Given the description of an element on the screen output the (x, y) to click on. 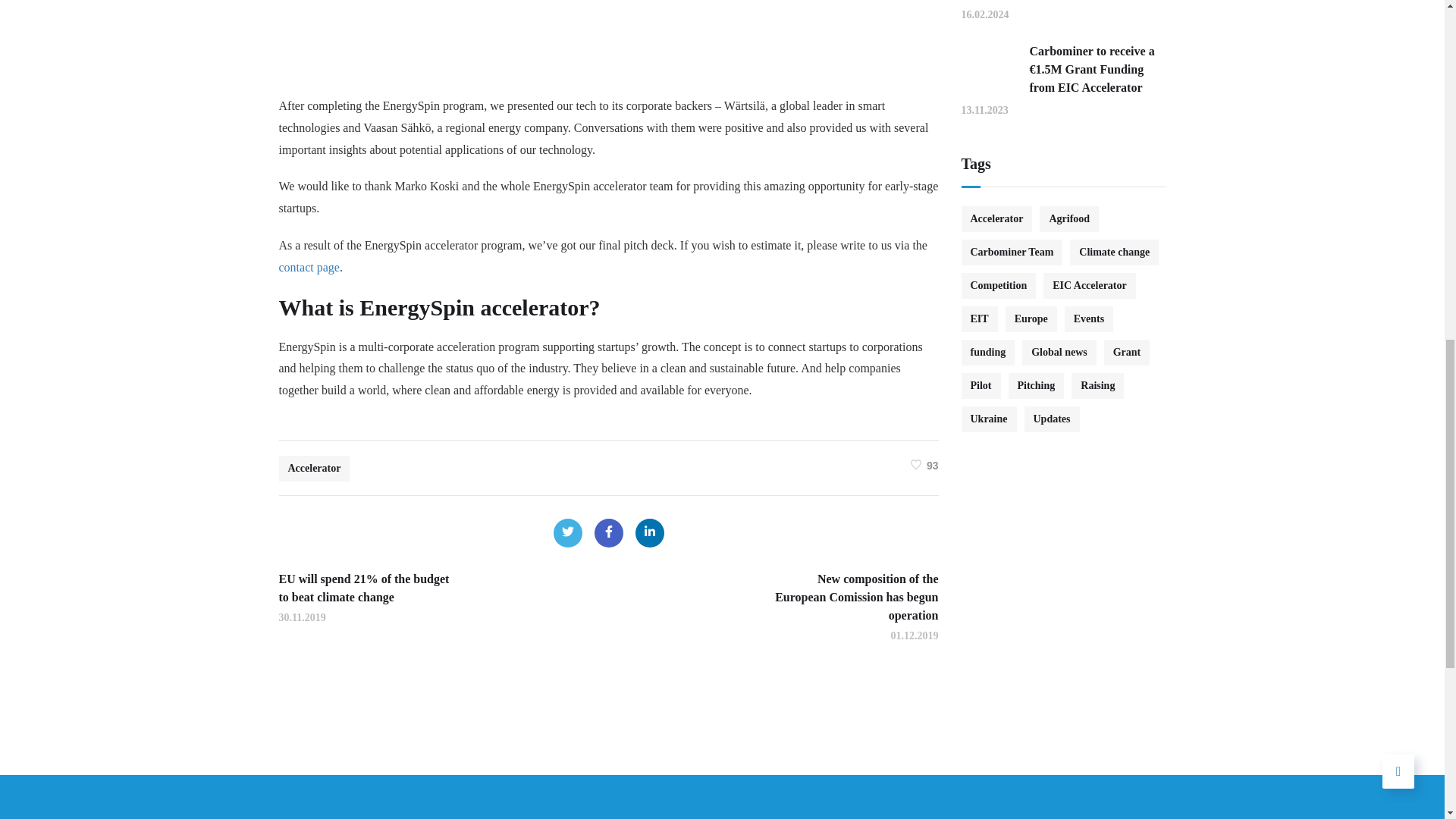
Accelerator (314, 468)
Like (925, 463)
Twitter (567, 532)
LinkedIn (648, 532)
contact page (309, 267)
Facebook (608, 532)
